Given the description of an element on the screen output the (x, y) to click on. 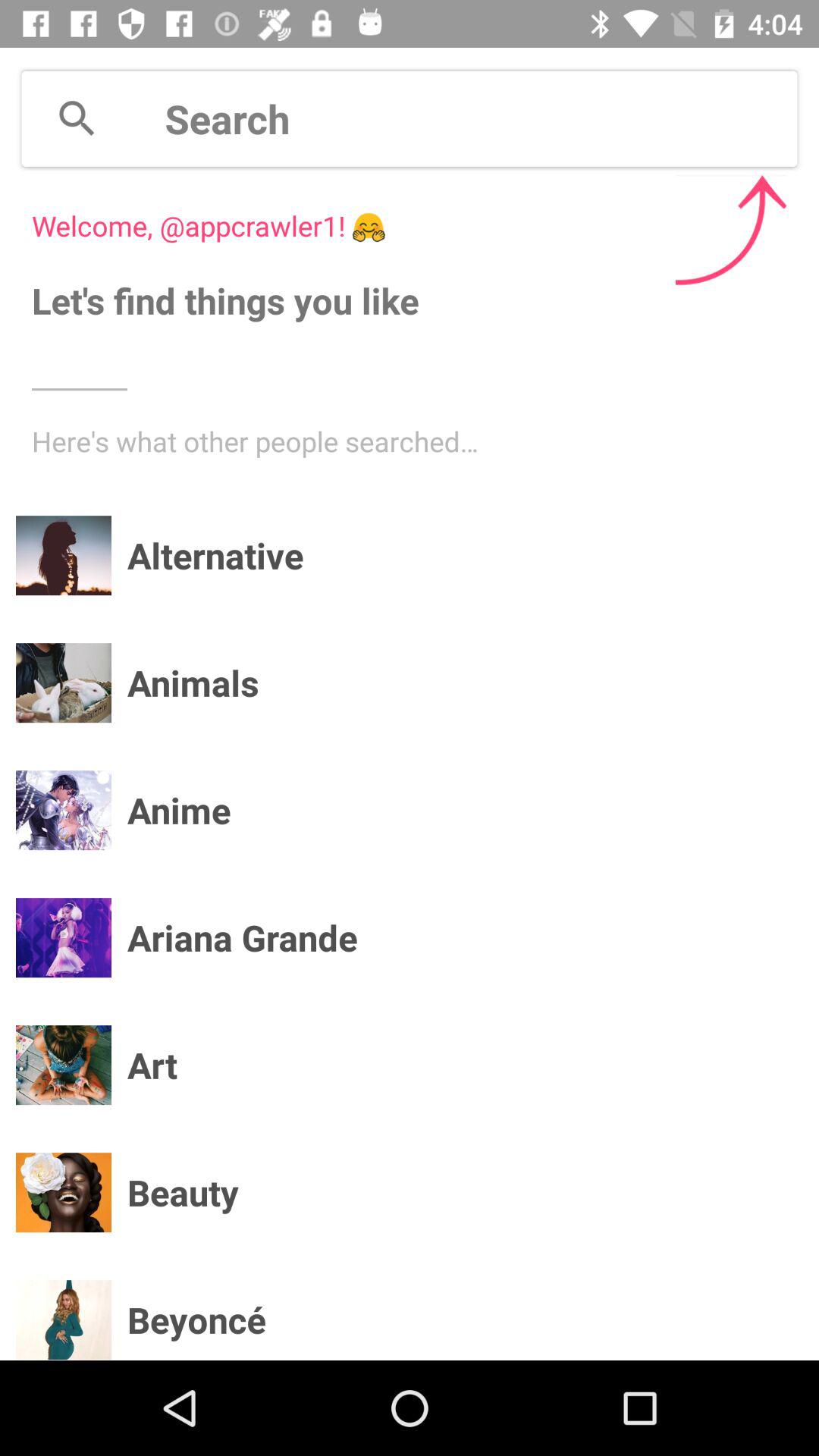
select the third option under the text lets find things you like (63, 810)
